Given the description of an element on the screen output the (x, y) to click on. 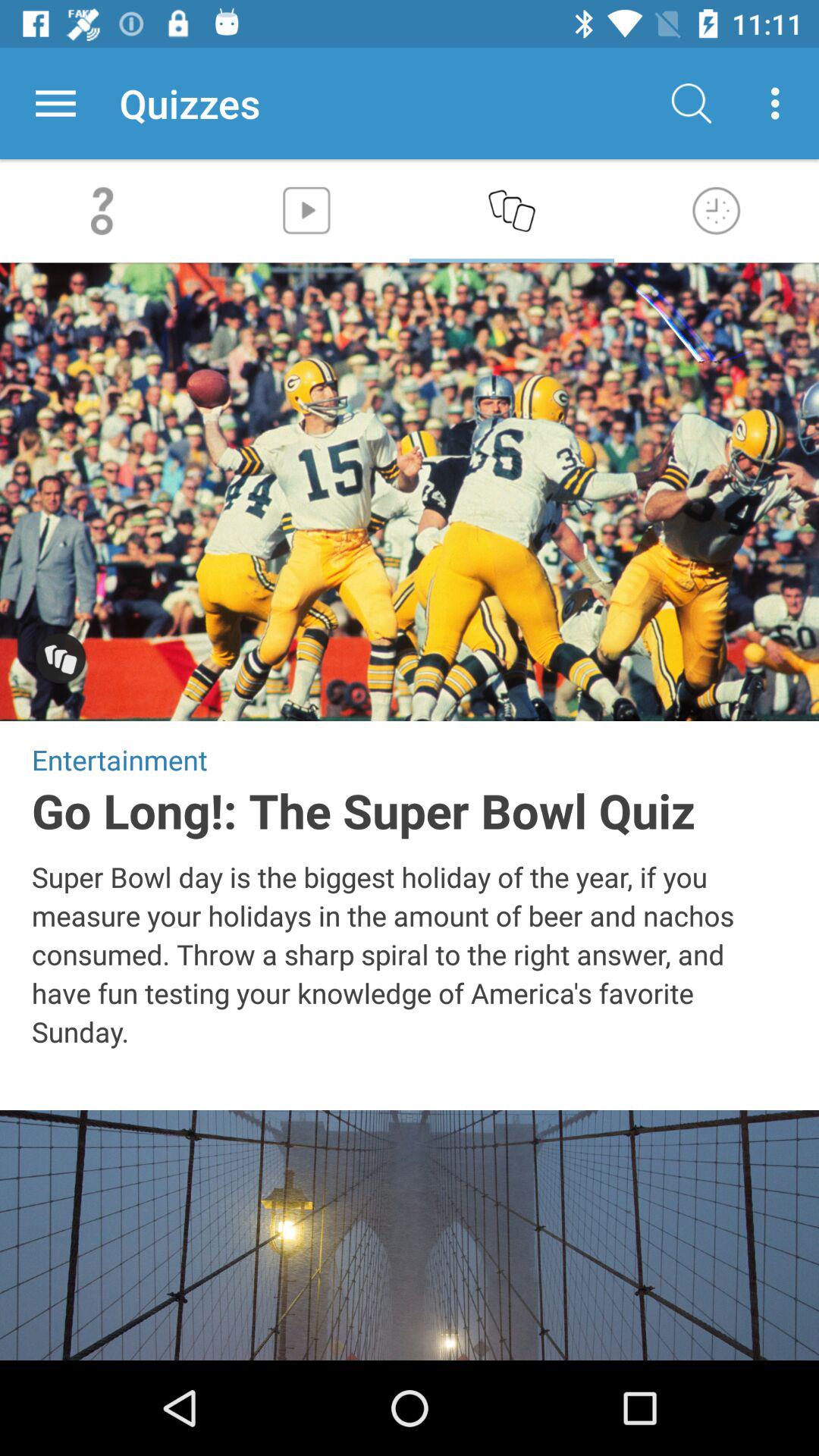
selection option (60, 660)
